Given the description of an element on the screen output the (x, y) to click on. 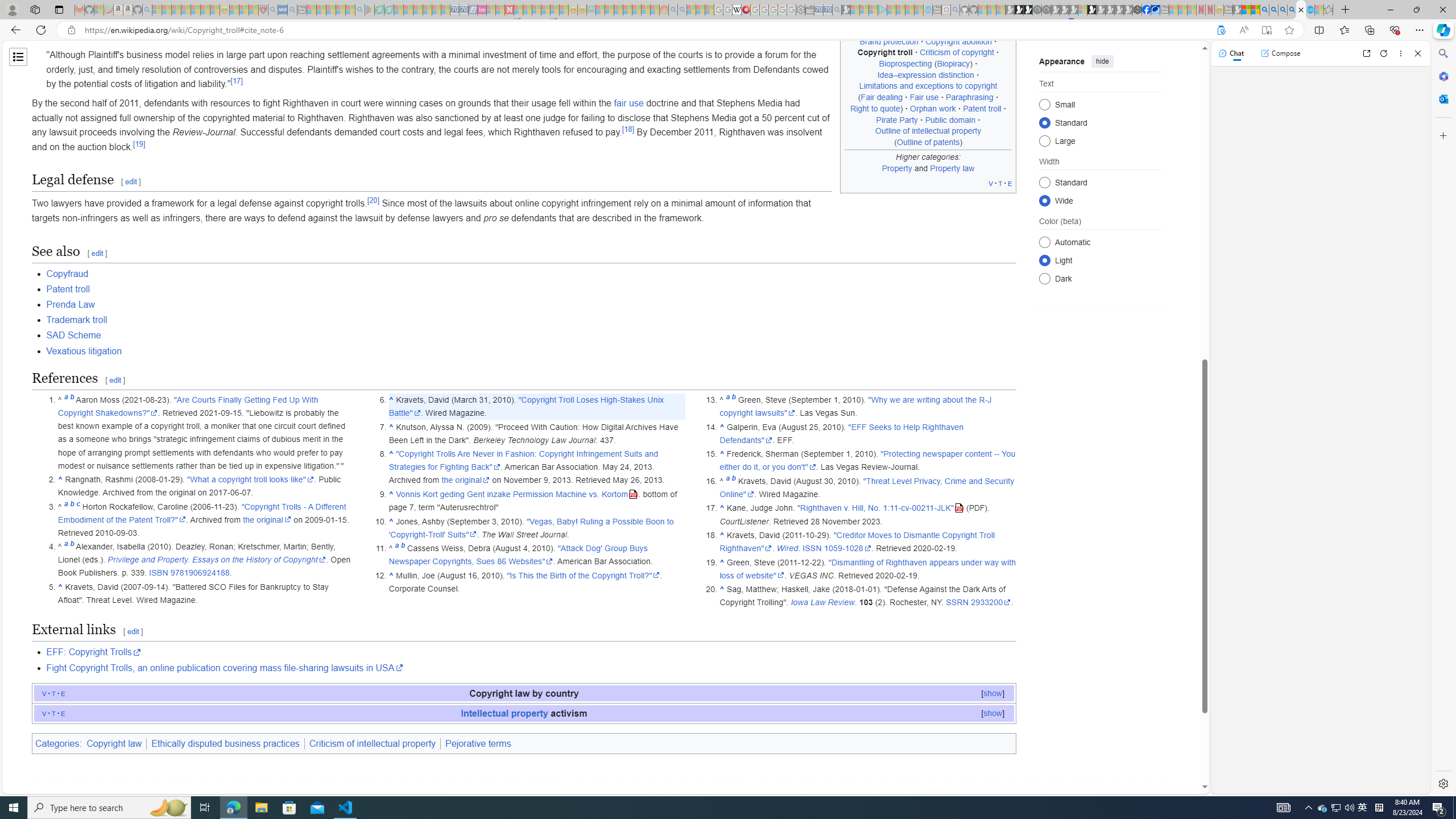
SAD Scheme (531, 335)
[20] (373, 200)
Target page - Wikipedia (736, 9)
Side bar (1443, 418)
Dark (1044, 278)
Favorites (1344, 29)
Pirate Party (897, 119)
Address and search bar (647, 29)
